Given the description of an element on the screen output the (x, y) to click on. 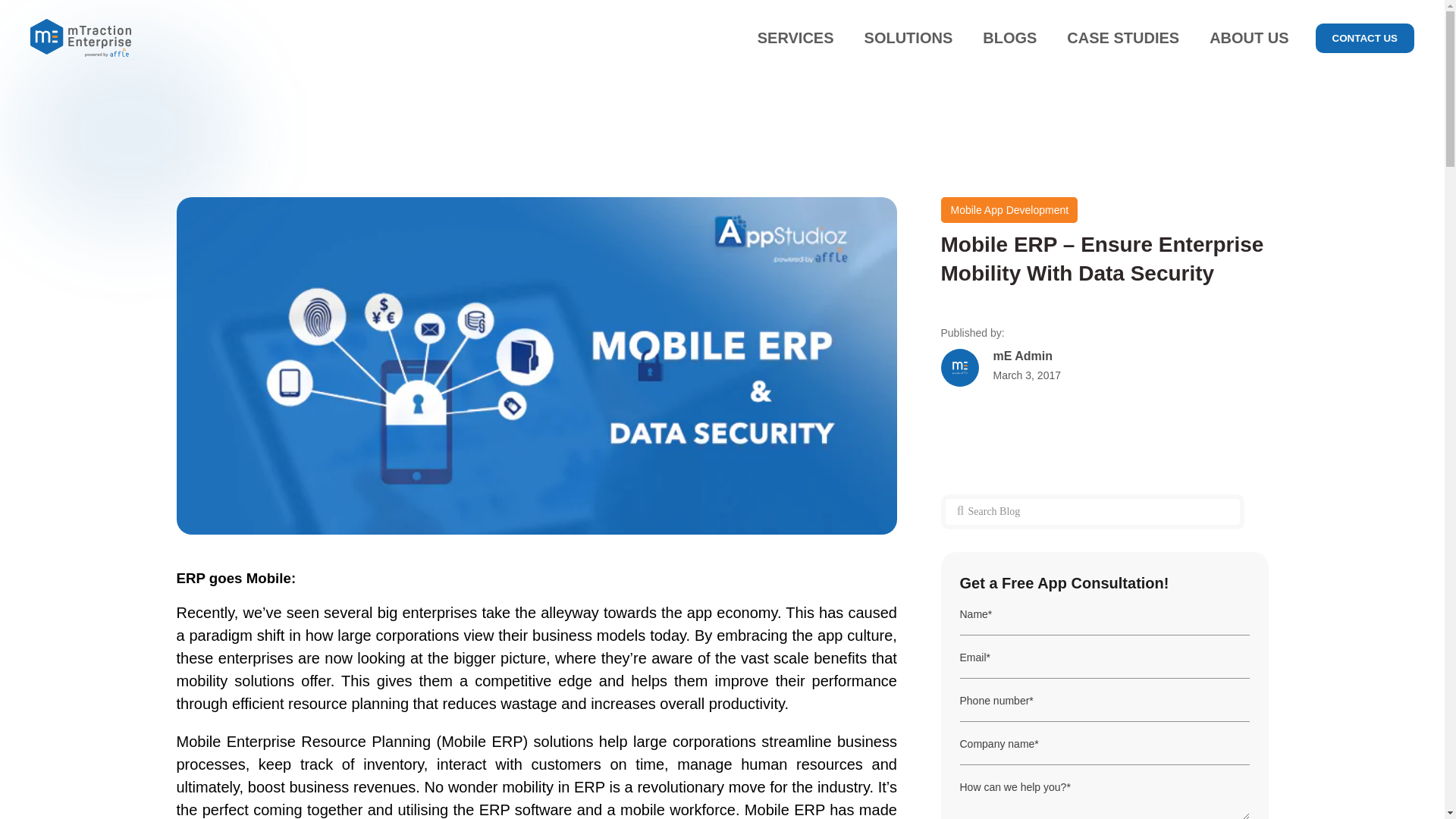
CONTACT US (1364, 37)
BLOGS (1009, 39)
CASE STUDIES (1122, 39)
CONTACT US (1358, 36)
ABOUT US (1248, 39)
